Given the description of an element on the screen output the (x, y) to click on. 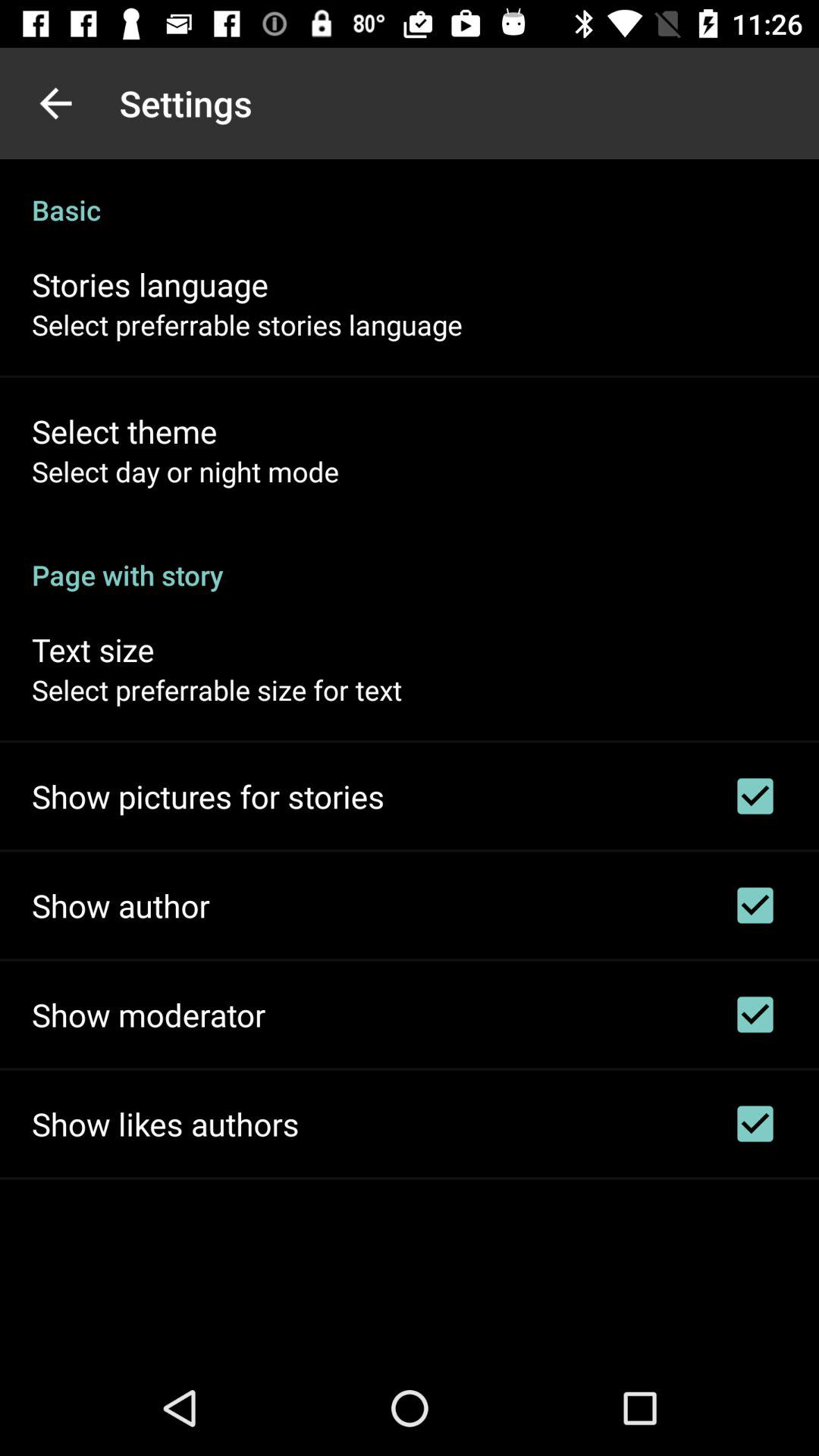
jump to the show pictures for icon (207, 795)
